Given the description of an element on the screen output the (x, y) to click on. 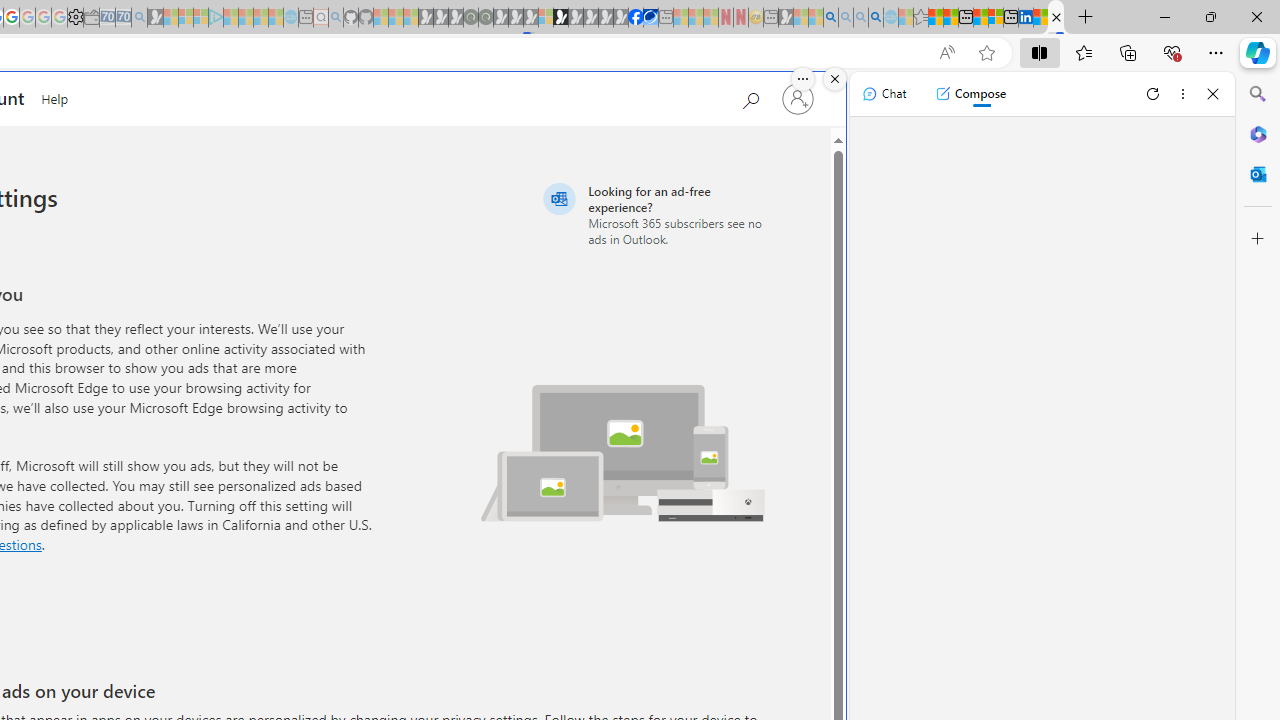
Future Focus Report 2024 - Sleeping (485, 17)
Bing AI - Search (831, 17)
Sign in to your account - Sleeping (545, 17)
github - Search - Sleeping (336, 17)
